Given the description of an element on the screen output the (x, y) to click on. 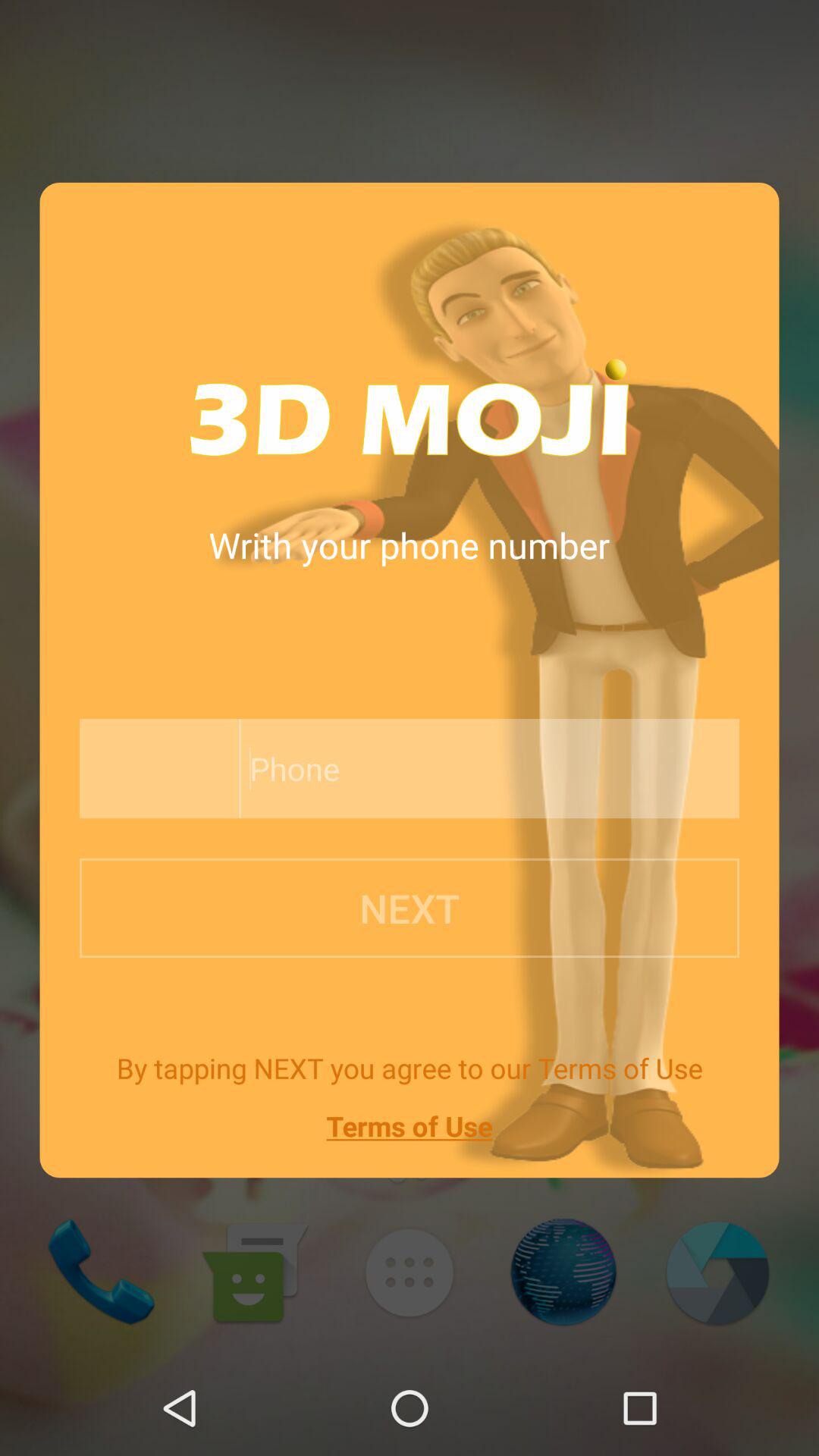
enter area code (154, 768)
